Given the description of an element on the screen output the (x, y) to click on. 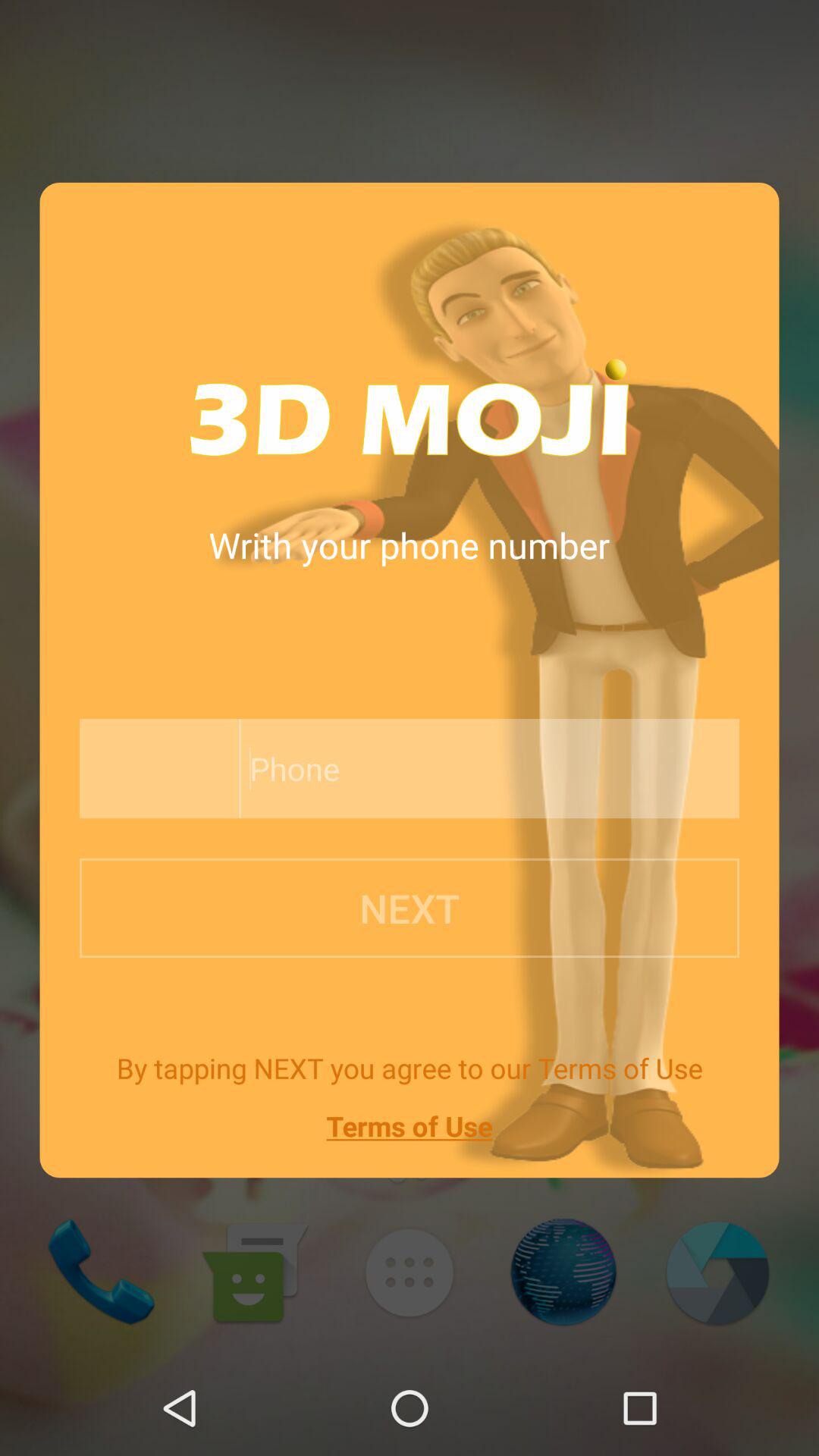
enter area code (154, 768)
